Given the description of an element on the screen output the (x, y) to click on. 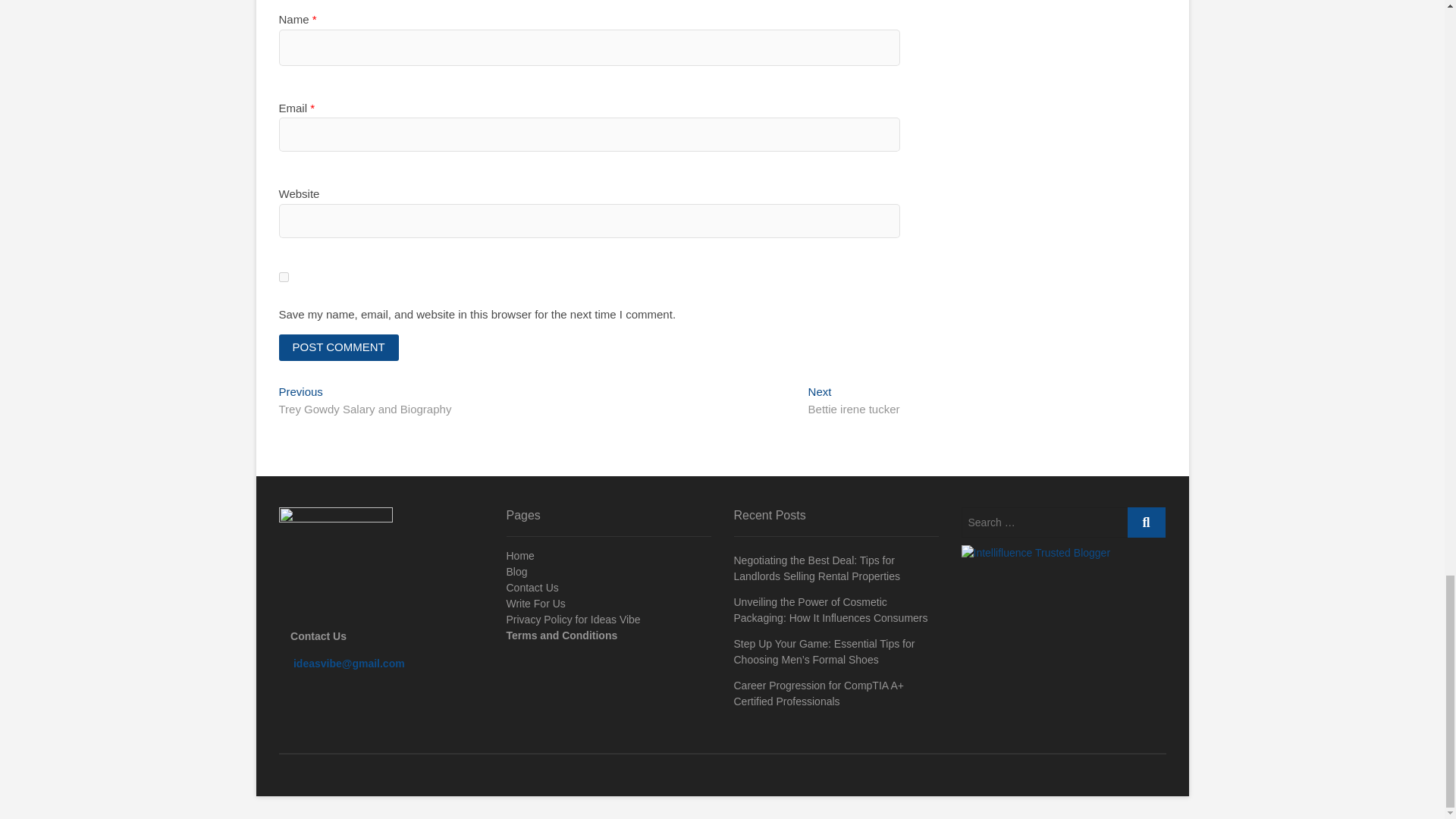
About Us (336, 563)
Post Comment (338, 347)
yes (283, 276)
